Given the description of an element on the screen output the (x, y) to click on. 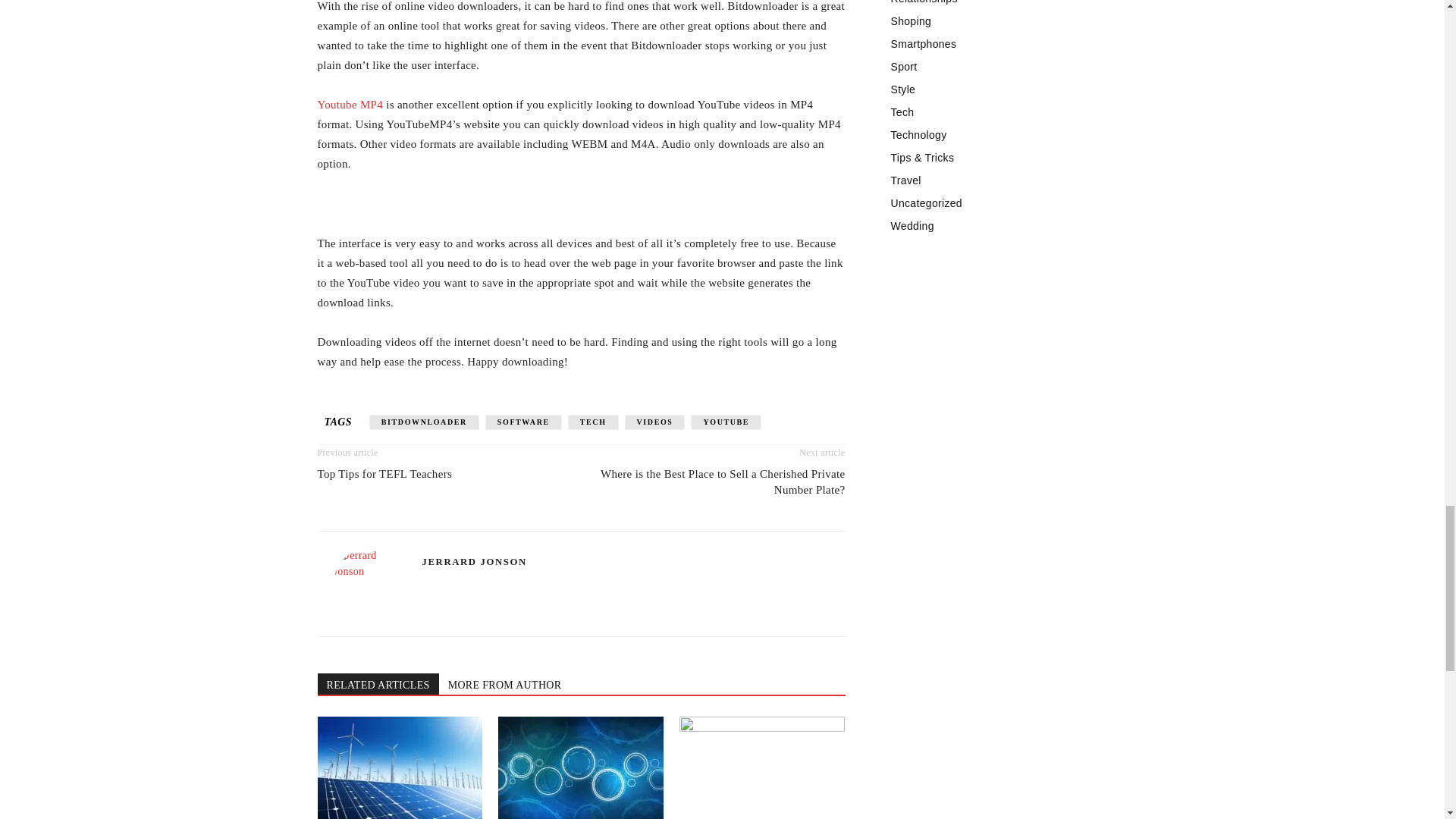
Why Solar Power is the Future of Sustainable Energy (399, 767)
